Given the description of an element on the screen output the (x, y) to click on. 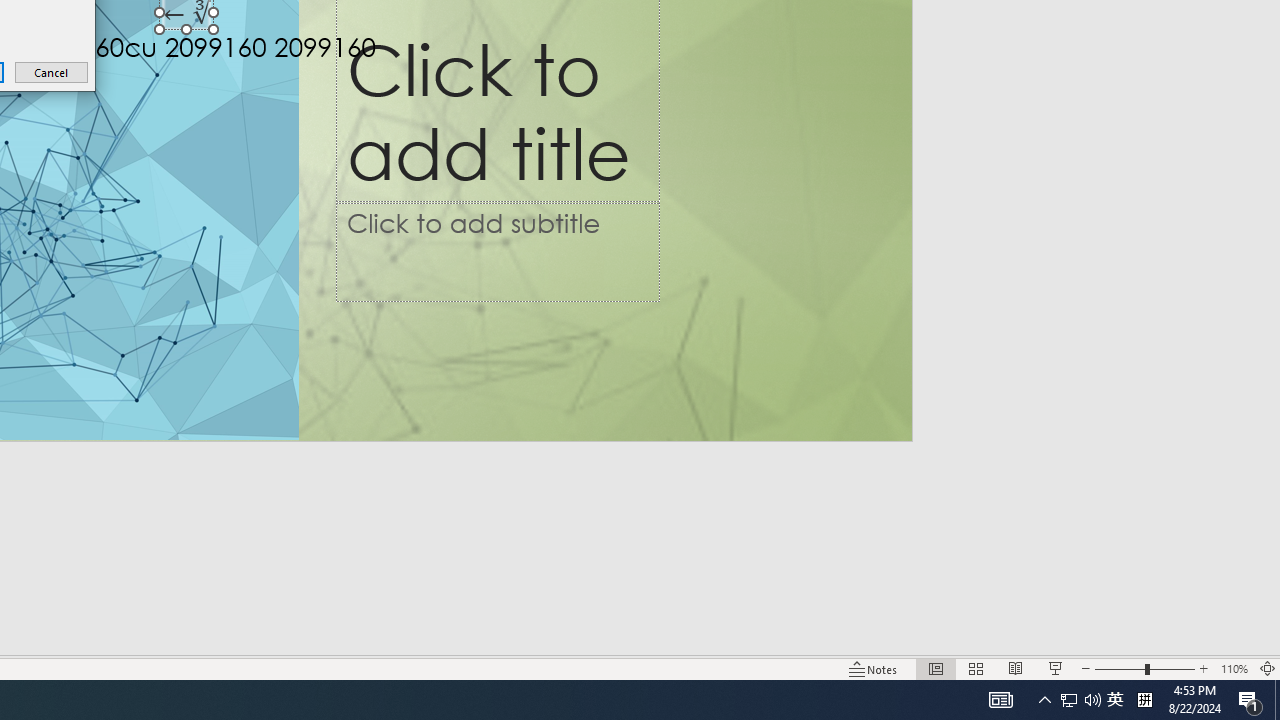
Cancel (51, 72)
Action Center, 1 new notification (1250, 699)
